Given the description of an element on the screen output the (x, y) to click on. 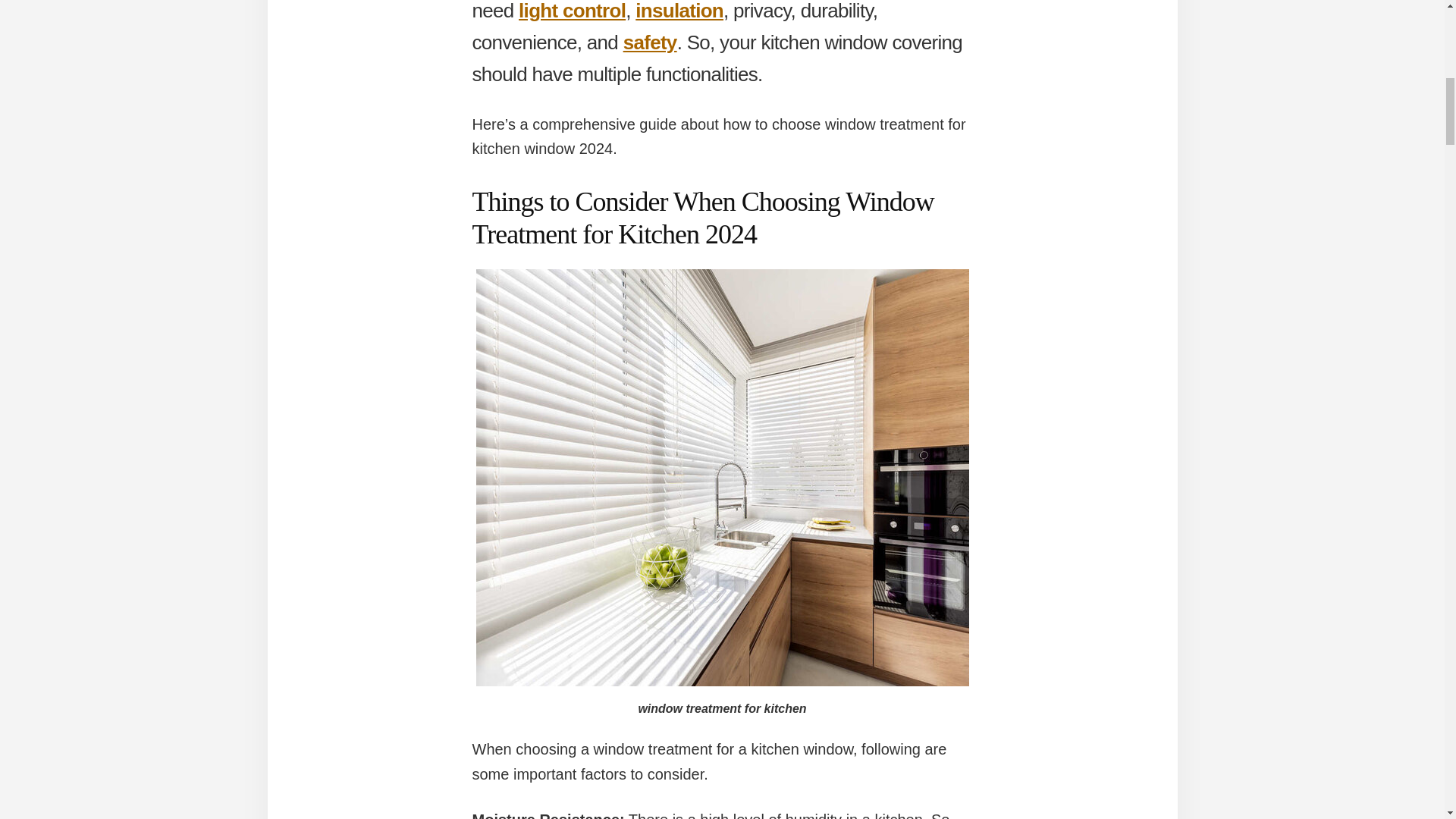
light control (572, 11)
safety (650, 42)
safety (650, 42)
insulation (678, 11)
